Given the description of an element on the screen output the (x, y) to click on. 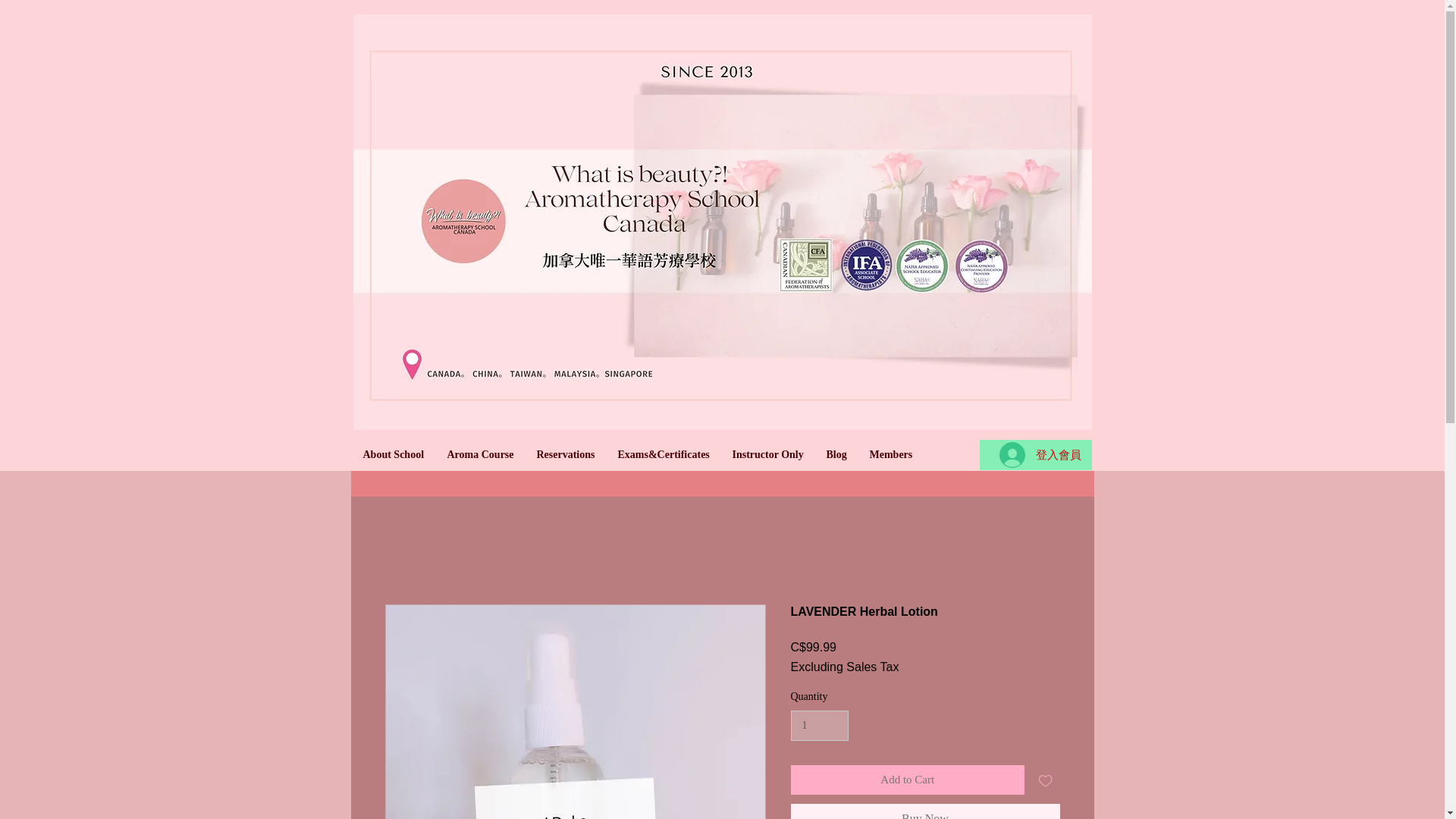
Members (891, 454)
Add to Cart (907, 779)
Buy Now (924, 811)
1 (818, 726)
About School (393, 454)
Instructor Only (766, 454)
Aroma Course (479, 454)
Reservations (564, 454)
